Given the description of an element on the screen output the (x, y) to click on. 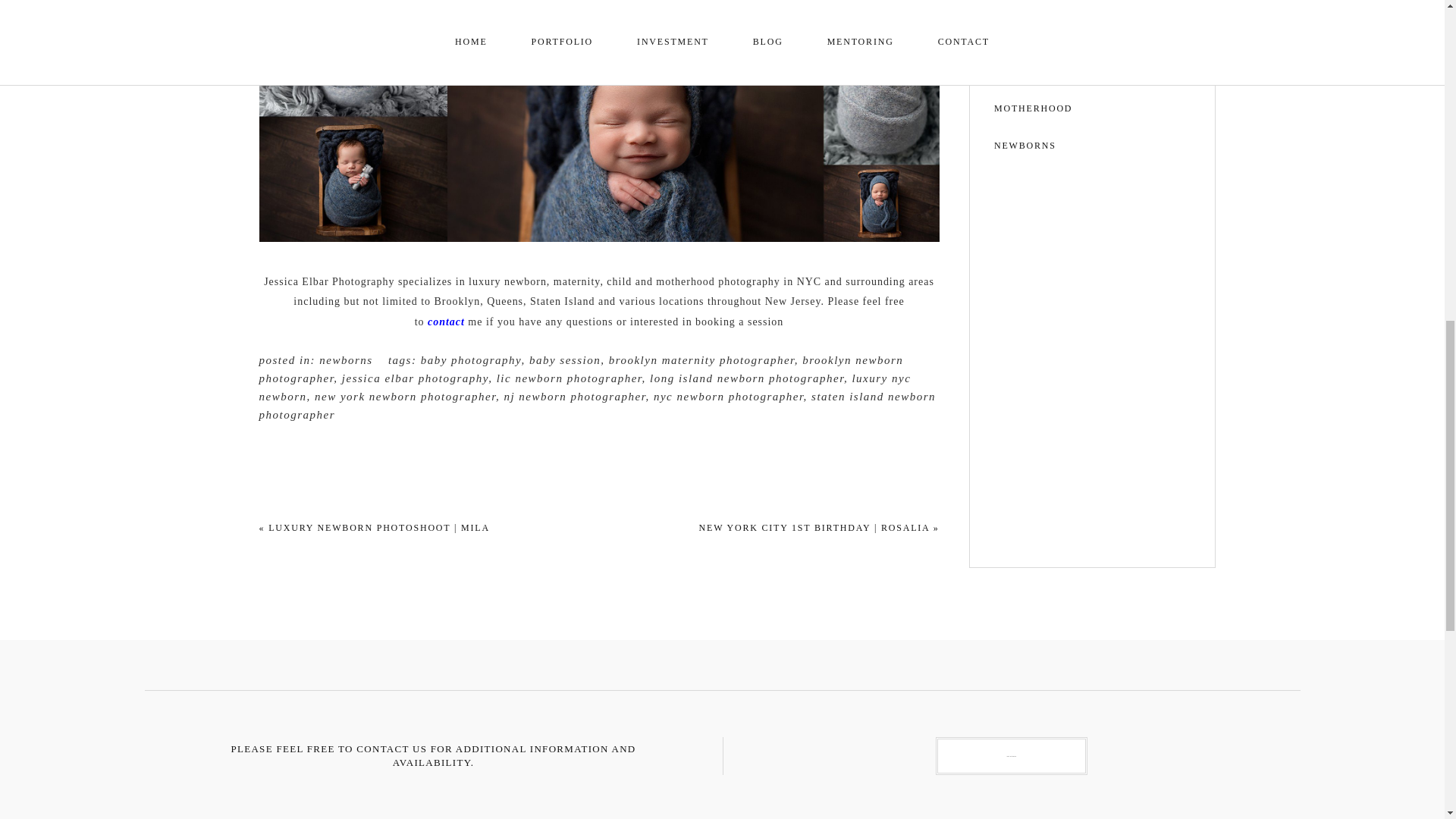
NEWBORNS (1091, 145)
nyc newborn photographer (728, 396)
brooklyn newborn photographer (581, 368)
jessica elbar photography (414, 378)
baby photography (470, 359)
baby session (564, 359)
CHILDREN (1091, 34)
luxury nyc newborn (585, 387)
staten island newborn photographer (597, 405)
get in touch (1011, 755)
